Given the description of an element on the screen output the (x, y) to click on. 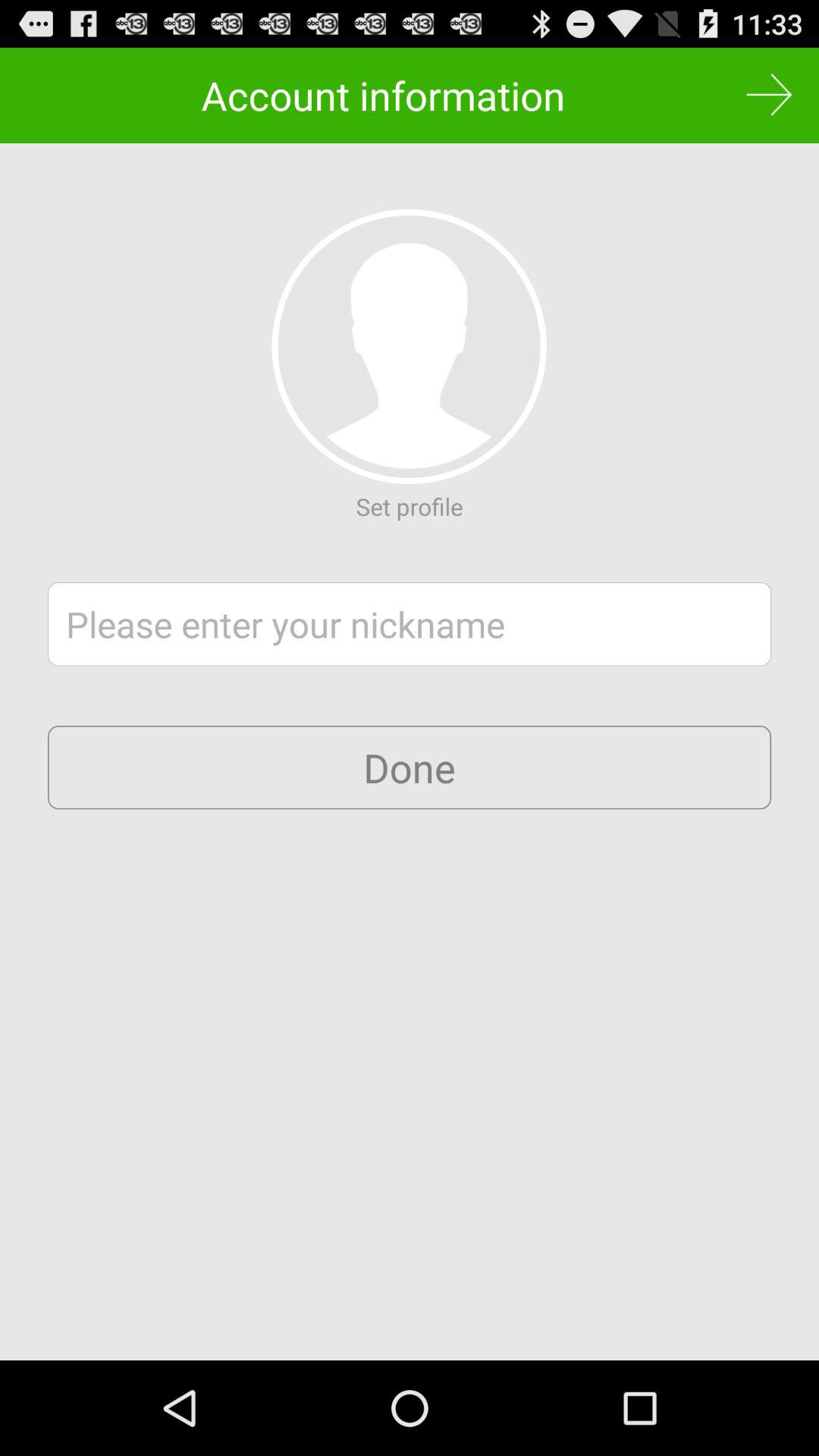
next page (769, 95)
